Given the description of an element on the screen output the (x, y) to click on. 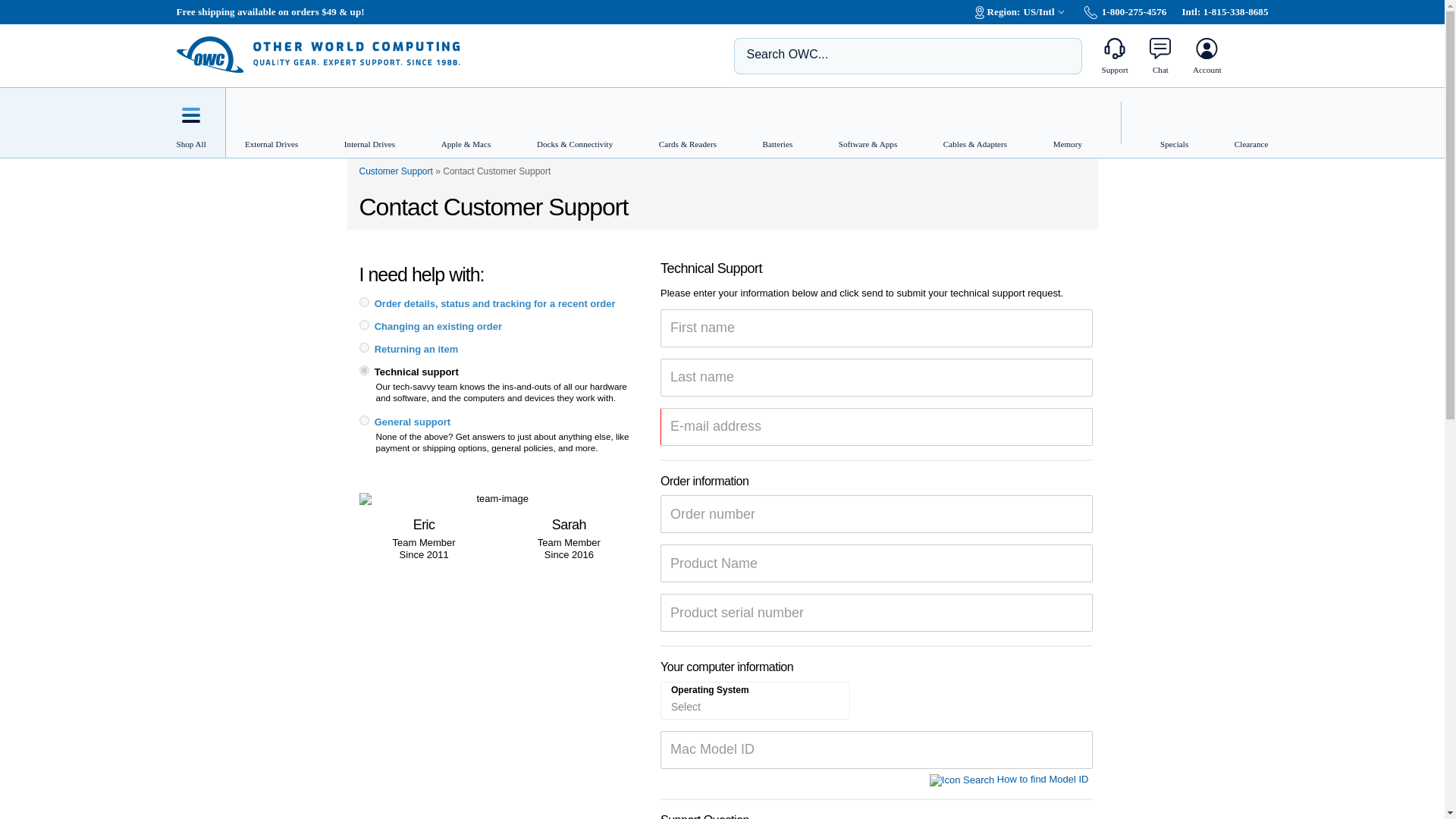
Internal Drives (369, 122)
form3 (364, 302)
Intl: 1-815-338-8685 (1224, 11)
Search (1059, 55)
form2 (364, 325)
External Drives (265, 122)
form2 (364, 370)
form1 (364, 420)
1-800-275-4576 (1125, 11)
form2 (364, 347)
